Given the description of an element on the screen output the (x, y) to click on. 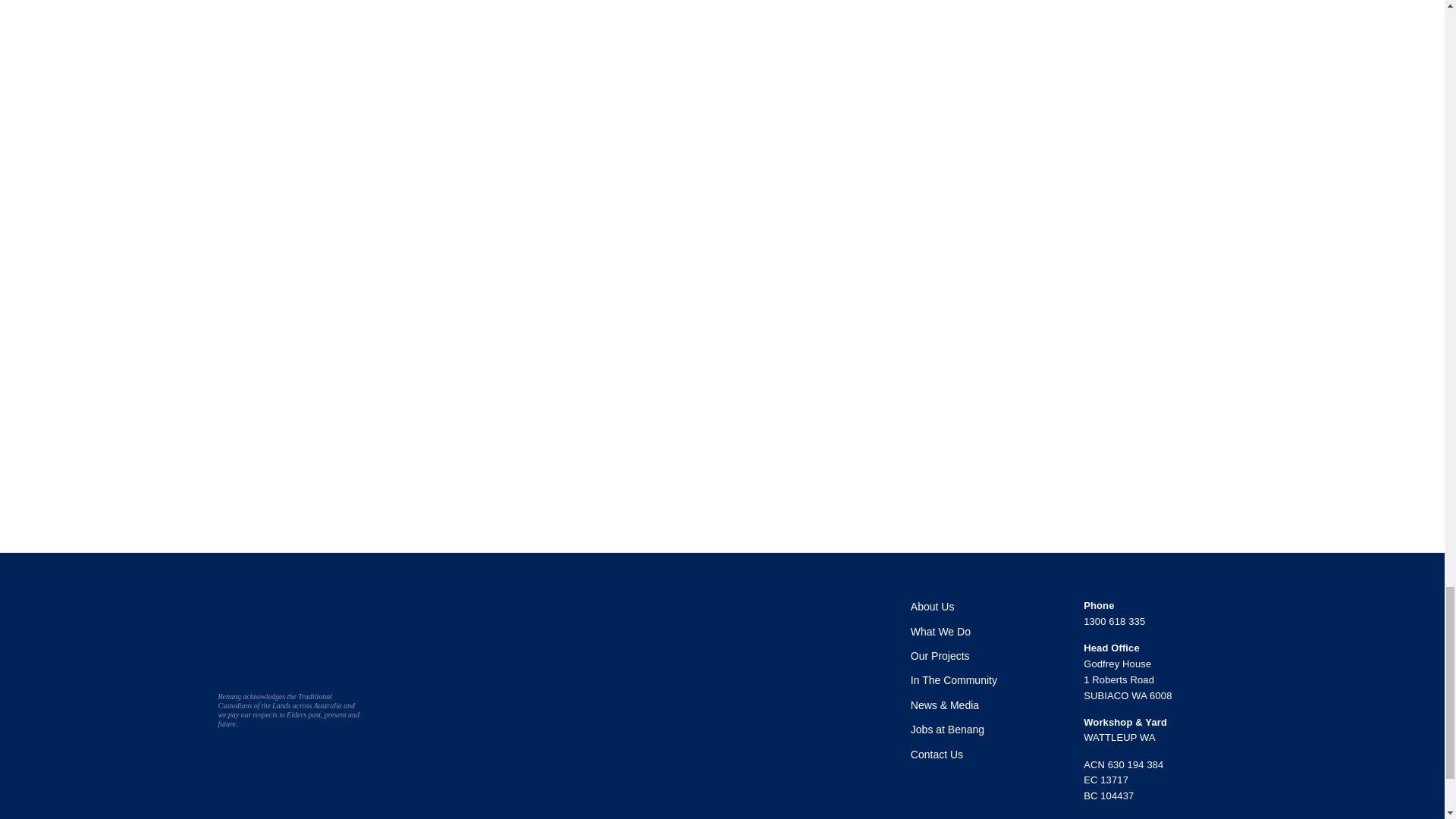
About Us (933, 606)
Jobs at Benang (947, 729)
Contact Us (936, 754)
What We Do (941, 631)
In The Community (954, 680)
Our Projects (940, 655)
